Given the description of an element on the screen output the (x, y) to click on. 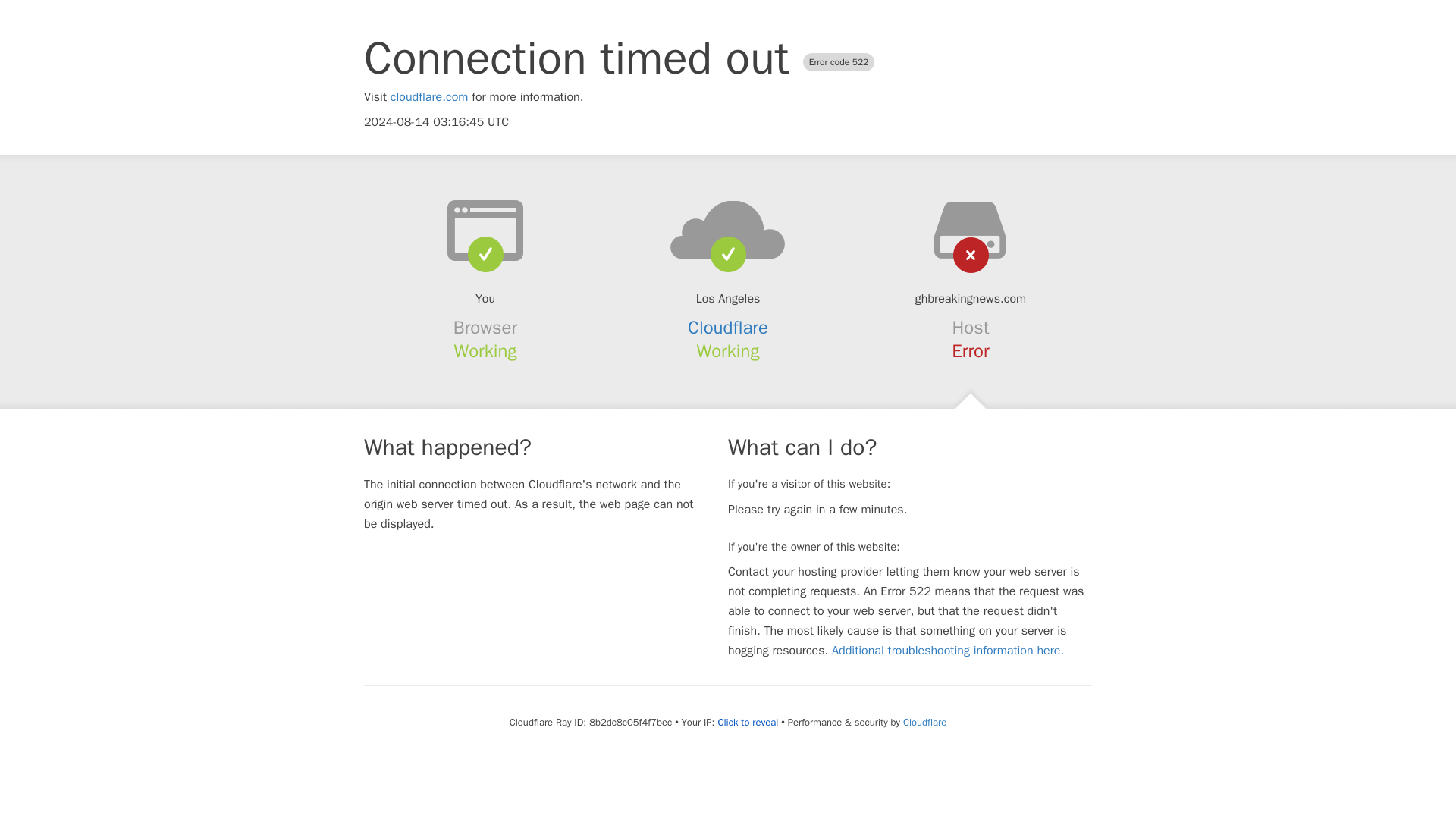
cloudflare.com (429, 96)
Click to reveal (747, 722)
Cloudflare (727, 327)
Additional troubleshooting information here. (947, 650)
Cloudflare (924, 721)
